Given the description of an element on the screen output the (x, y) to click on. 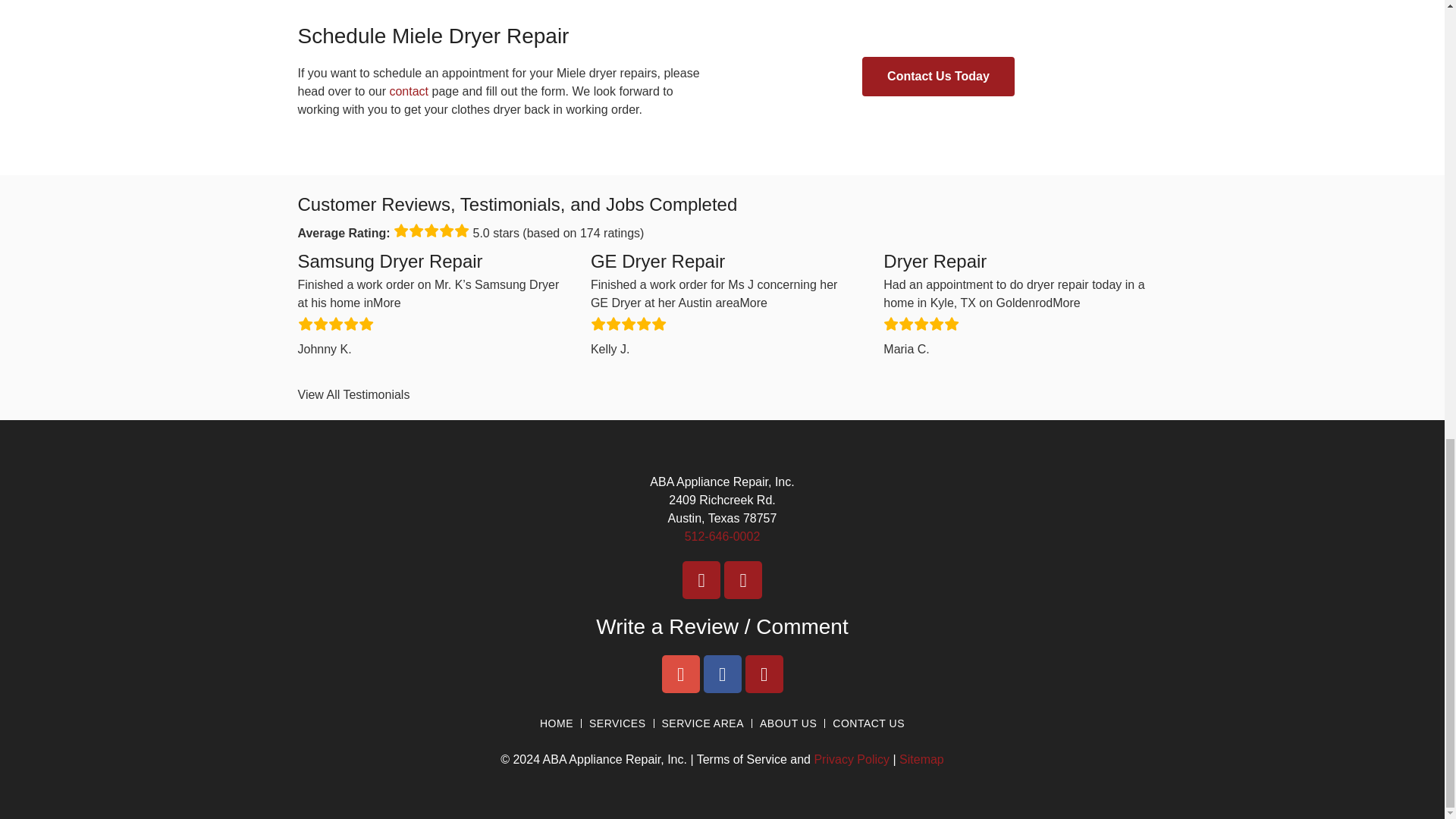
Contact Us (408, 91)
Privacy Policy (851, 758)
Sitemap (921, 758)
